Given the description of an element on the screen output the (x, y) to click on. 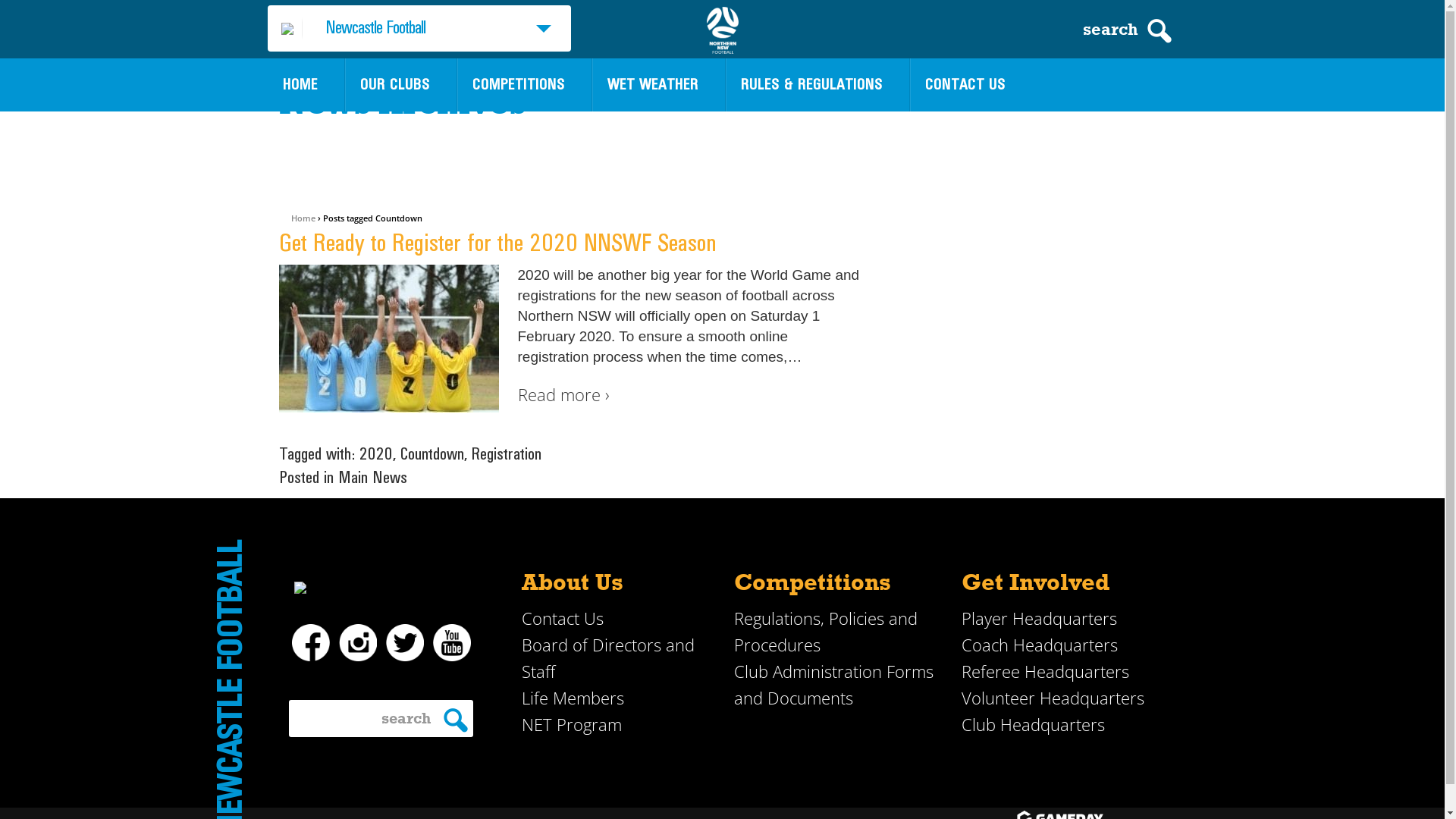
Home Element type: text (303, 217)
Board of Directors and Staff Element type: text (607, 657)
Instagram Element type: text (357, 643)
Main News Element type: text (372, 477)
Club Headquarters Element type: text (1032, 724)
Referee Headquarters Element type: text (1045, 671)
HOME Element type: text (299, 84)
Player Headquarters Element type: text (1039, 618)
Coach Headquarters Element type: text (1039, 644)
Competitions Element type: text (812, 581)
Regulations, Policies and Procedures Element type: text (825, 631)
Countdown Element type: text (432, 454)
About Us Element type: text (572, 581)
S Element type: text (454, 720)
Facebook Element type: text (310, 643)
OUR CLUBS Element type: text (394, 84)
Life Members Element type: text (572, 698)
Get Ready to Register for the 2020 NNSWF Season Element type: text (497, 243)
Contact Us Element type: text (562, 618)
2020 Element type: text (375, 454)
NNSWF Element type: text (722, 29)
Youtube Element type: text (451, 643)
Registration Element type: text (506, 454)
COMPETITIONS Element type: text (517, 84)
RULES & REGULATIONS Element type: text (810, 84)
NET Program Element type: text (571, 724)
S Element type: text (1158, 30)
Volunteer Headquarters Element type: text (1052, 698)
CONTACT US Element type: text (965, 84)
WET WEATHER Element type: text (651, 84)
Twitter Element type: text (404, 643)
Get Involved Element type: text (1035, 581)
Club Administration Forms and Documents Element type: text (833, 684)
